Given the description of an element on the screen output the (x, y) to click on. 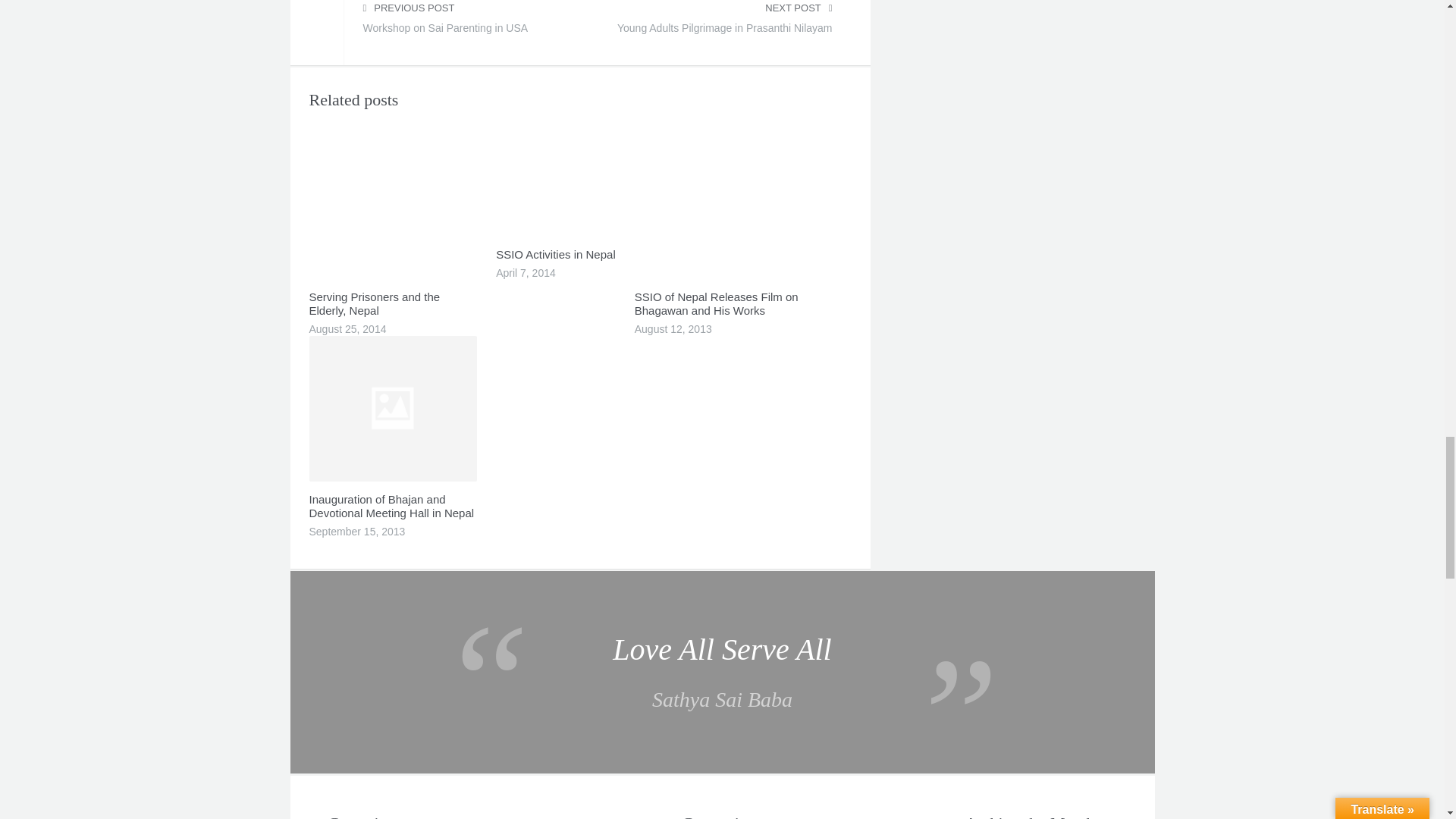
Serving Prisoners and the Elderly, Nepal (723, 32)
